Given the description of an element on the screen output the (x, y) to click on. 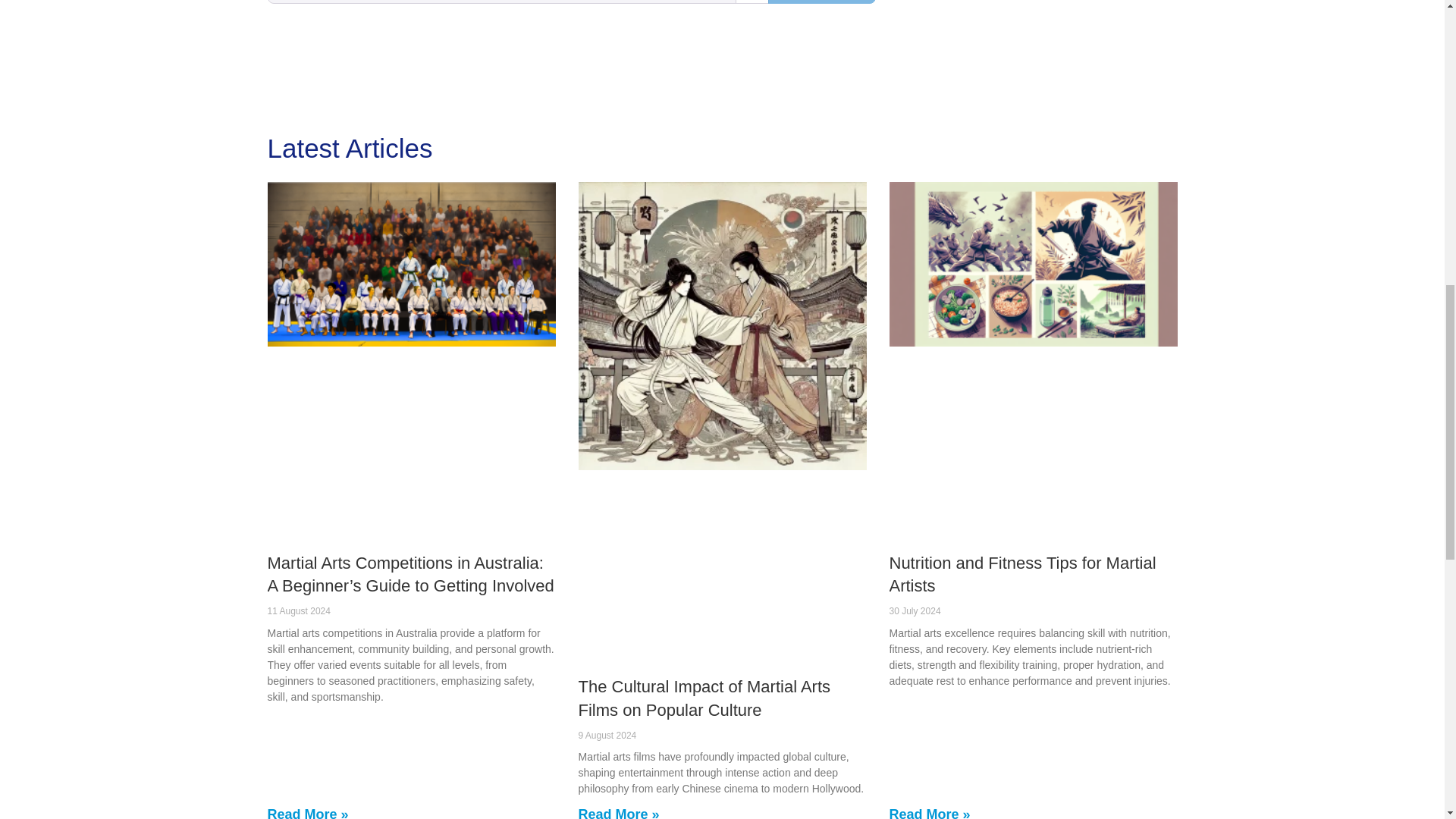
Nutrition and Fitness Tips for Martial Artists (1022, 574)
use my location (751, 2)
The Cultural Impact of Martial Arts Films on Popular Culture (703, 698)
Get Directions (822, 2)
